Given the description of an element on the screen output the (x, y) to click on. 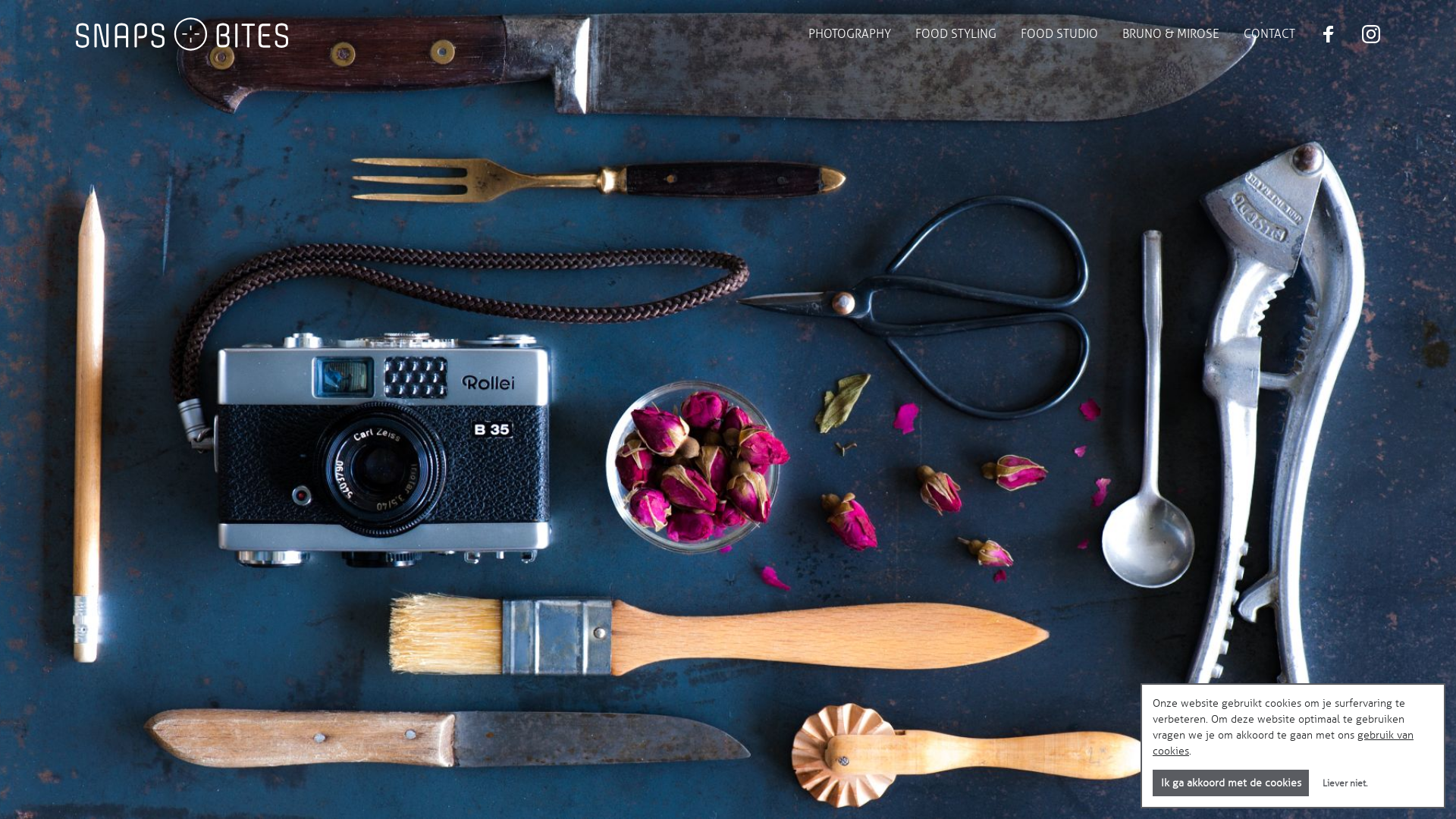
Liever niet. Element type: text (1344, 783)
CONTACT Element type: text (1269, 34)
FOOD STUDIO Element type: text (1059, 34)
FOOD STYLING Element type: text (955, 34)
gebruik van cookies Element type: text (1282, 742)
Snaps and Bites Element type: hover (181, 33)
PHOTOGRAPHY Element type: text (849, 34)
Ik ga akkoord met de cookies Element type: text (1230, 782)
BRUNO & MIROSE Element type: text (1170, 34)
